Given the description of an element on the screen output the (x, y) to click on. 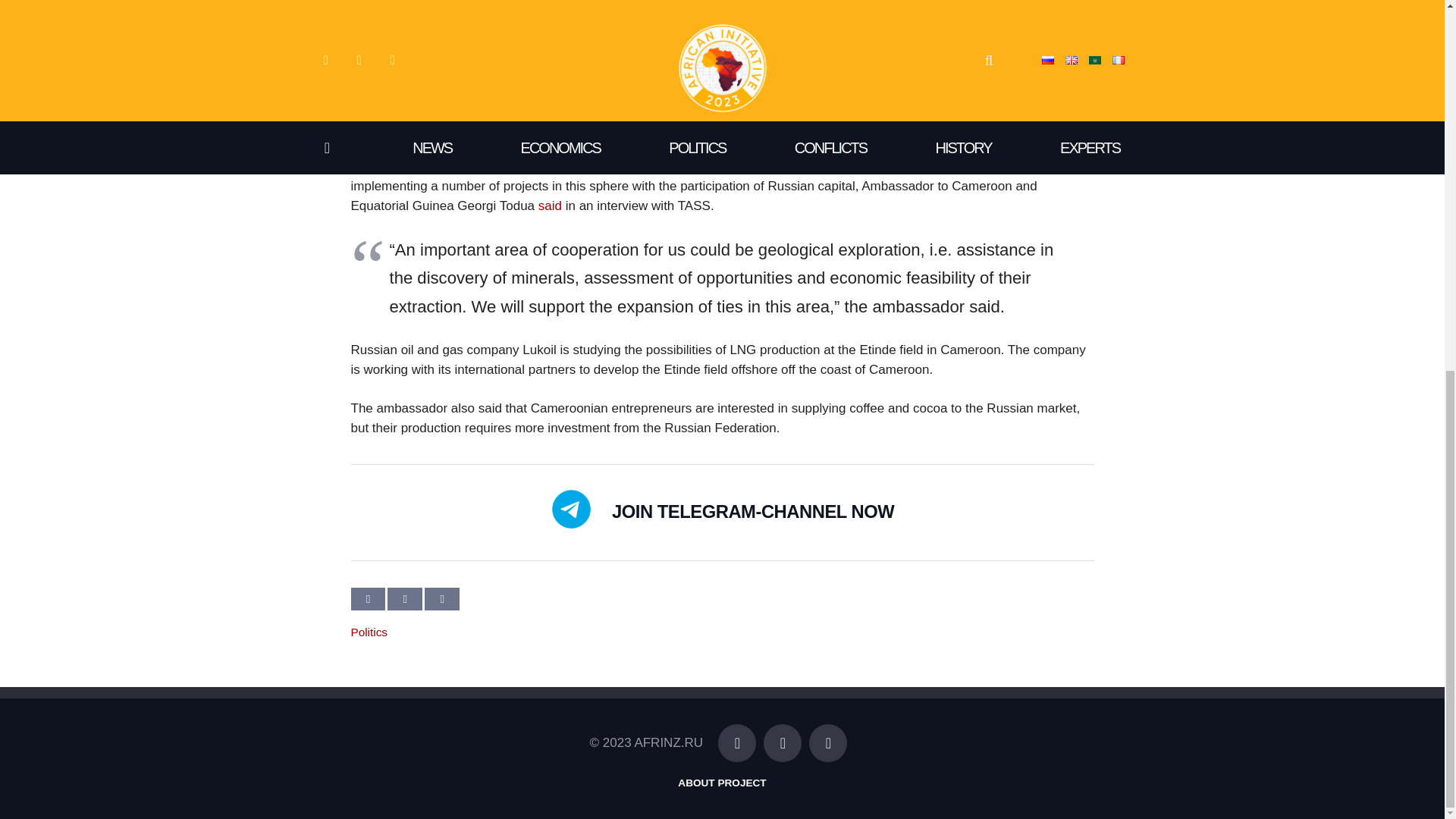
JOIN TELEGRAM-CHANNEL NOW (752, 512)
said (550, 205)
Share this (404, 599)
Share this (442, 599)
Email this (367, 599)
